Given the description of an element on the screen output the (x, y) to click on. 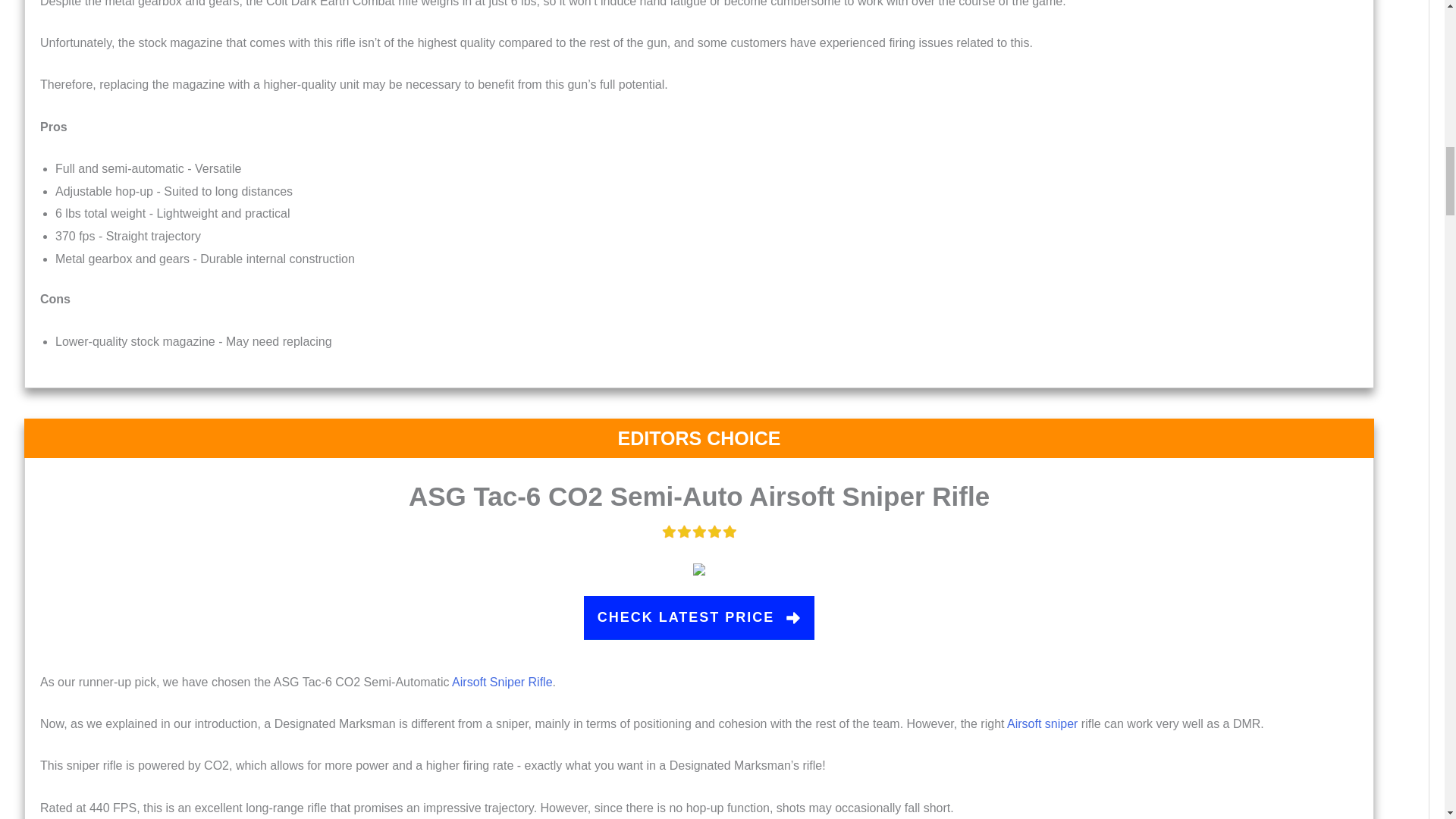
Nofollow link (699, 617)
Nofollow link (699, 496)
ASG Tac-6 CO2 Semi-Auto Airsoft Sniper Rifle (699, 496)
